Given the description of an element on the screen output the (x, y) to click on. 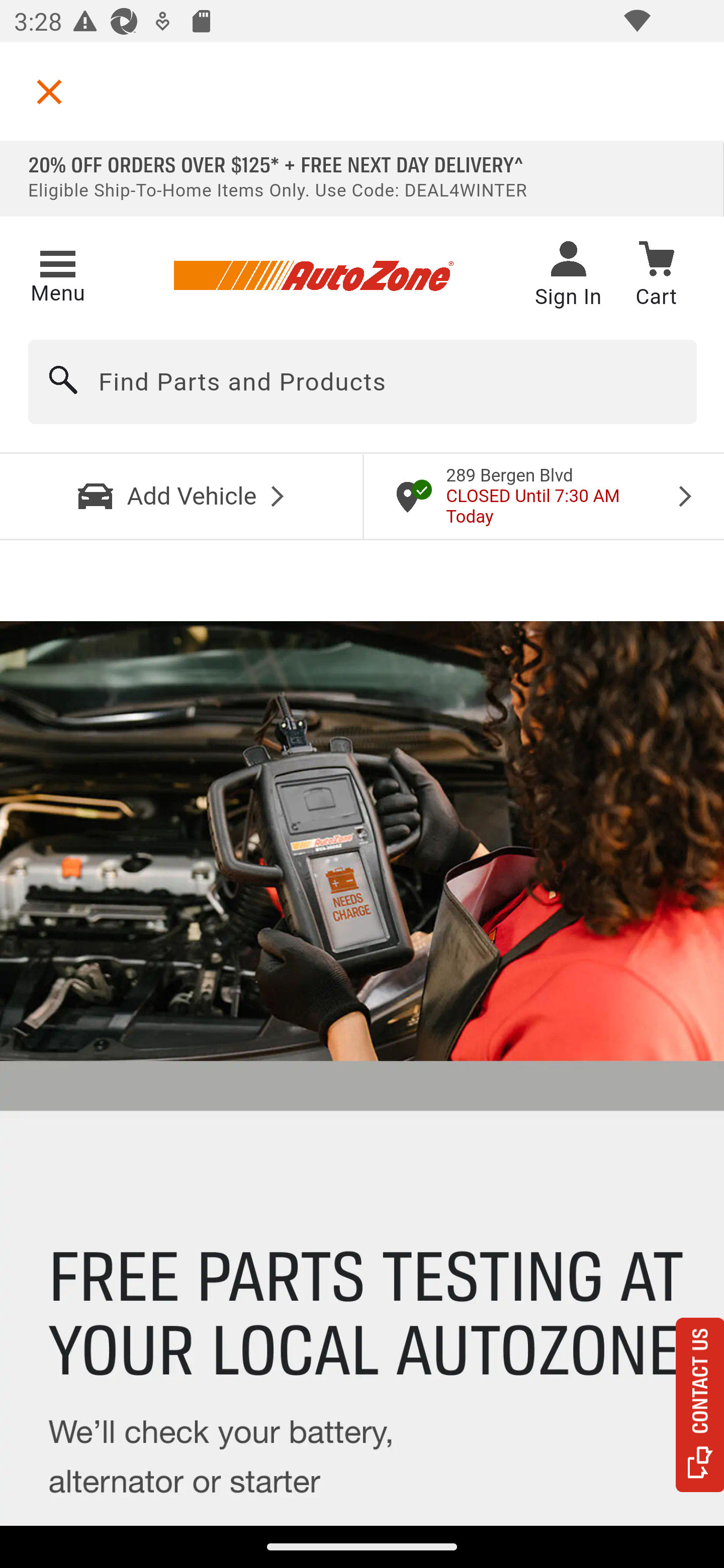
 (49, 91)
Menu (57, 273)
Sign In (567, 276)
AutoZone Logo (links to homepage) (312, 276)
shopping cart 0 items (655, 277)
Search (63, 382)
Add Vehicle (182, 495)
Contact Us (699, 1404)
